Given the description of an element on the screen output the (x, y) to click on. 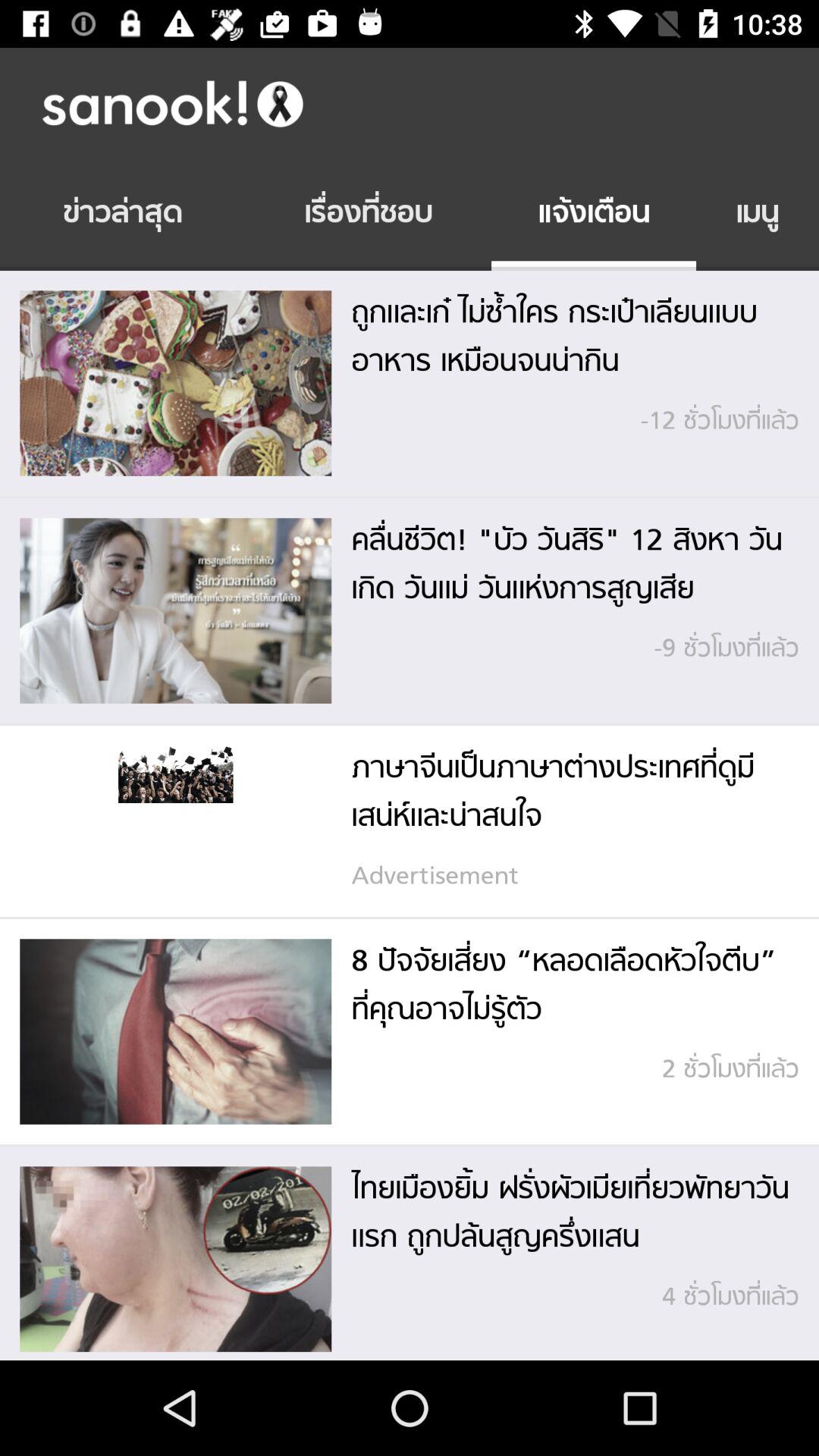
select the 2nd text in the 2nd row which is in the black background (368, 214)
click on the second image (175, 610)
click on sanook button (425, 103)
